Given the description of an element on the screen output the (x, y) to click on. 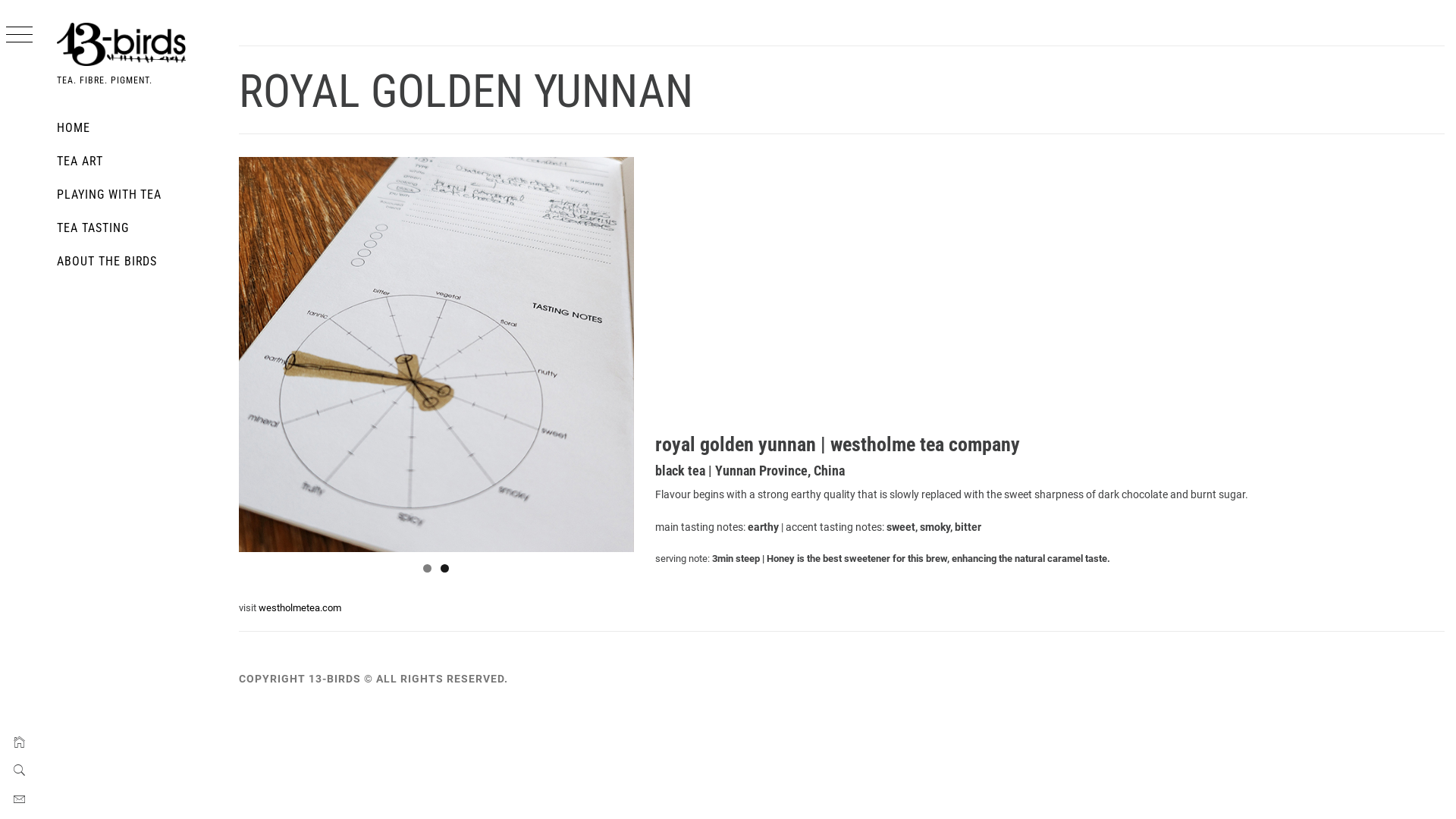
TEA ART Element type: text (132, 161)
Search Element type: text (652, 37)
PLAYING WITH TEA Element type: text (132, 194)
ABOUT THE BIRDS Element type: text (132, 261)
HOME Element type: text (132, 127)
TEA TASTING Element type: text (132, 227)
1 Element type: text (427, 568)
westholmetea.com Element type: text (299, 607)
2 Element type: text (444, 568)
13b-teatasting-2313-01blog Element type: hover (831, 354)
13b-teatasting-2313-02blog Element type: hover (435, 354)
